Given the description of an element on the screen output the (x, y) to click on. 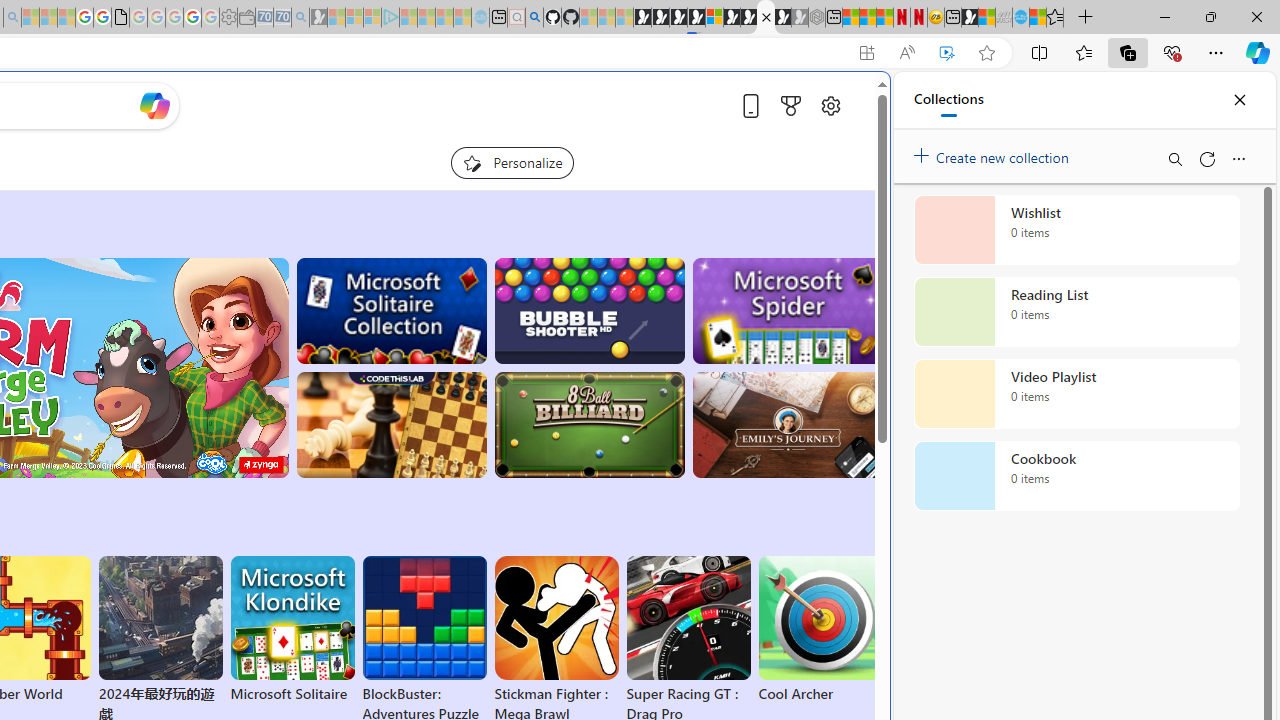
Video Playlist collection, 0 items (1076, 394)
Wishlist collection, 0 items (1076, 229)
8 Ball Billiard (589, 425)
Wallet - Sleeping (246, 17)
Enhance video (946, 53)
google_privacy_policy_zh-CN.pdf (120, 17)
Reading List collection, 0 items (1076, 312)
Cool Archer (820, 629)
